Given the description of an element on the screen output the (x, y) to click on. 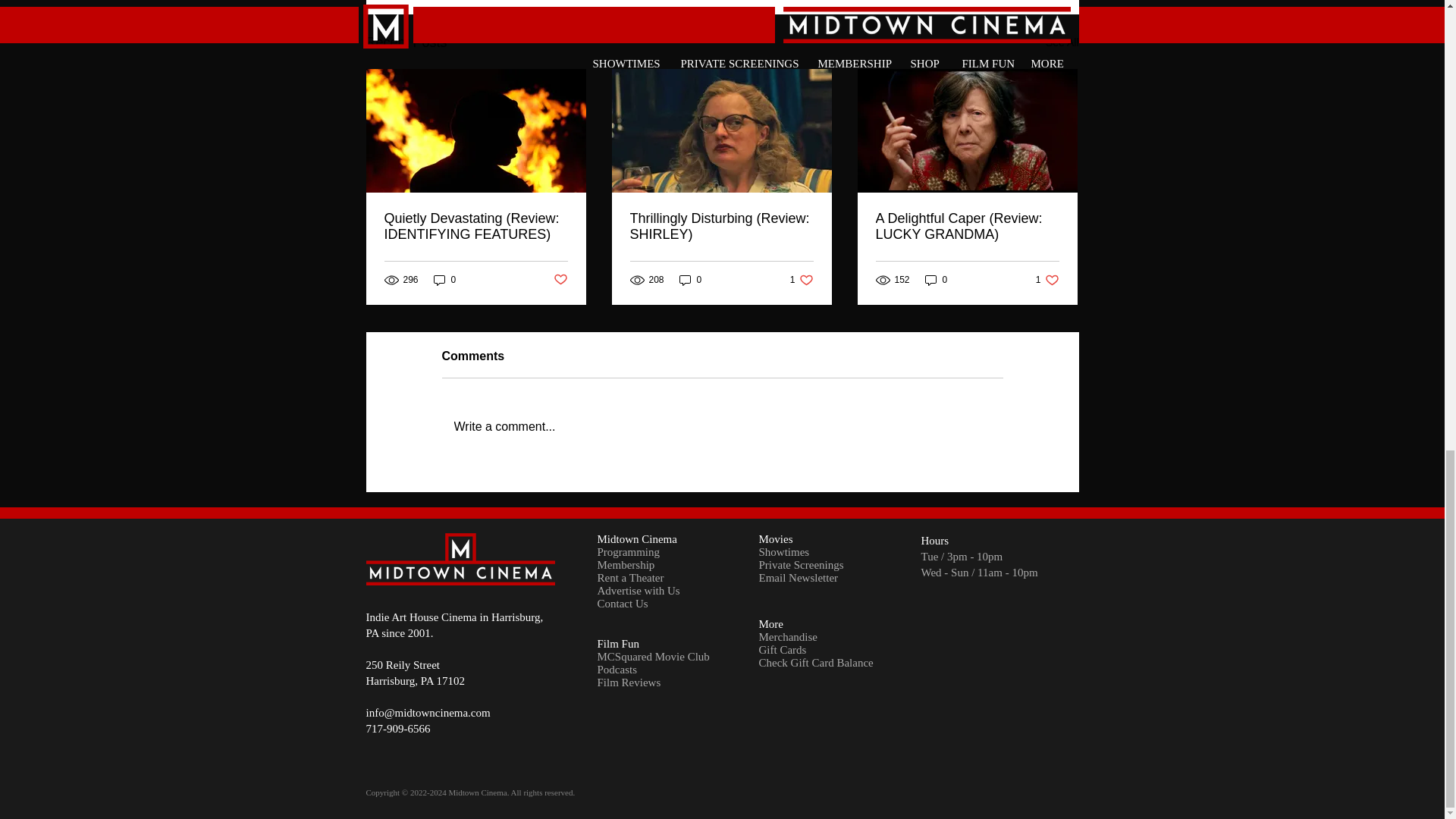
Post not marked as liked (560, 279)
0 (445, 279)
See All (1047, 279)
250 Reily Street (1061, 42)
0 (402, 664)
Write a comment... (936, 279)
0 (722, 426)
